Given the description of an element on the screen output the (x, y) to click on. 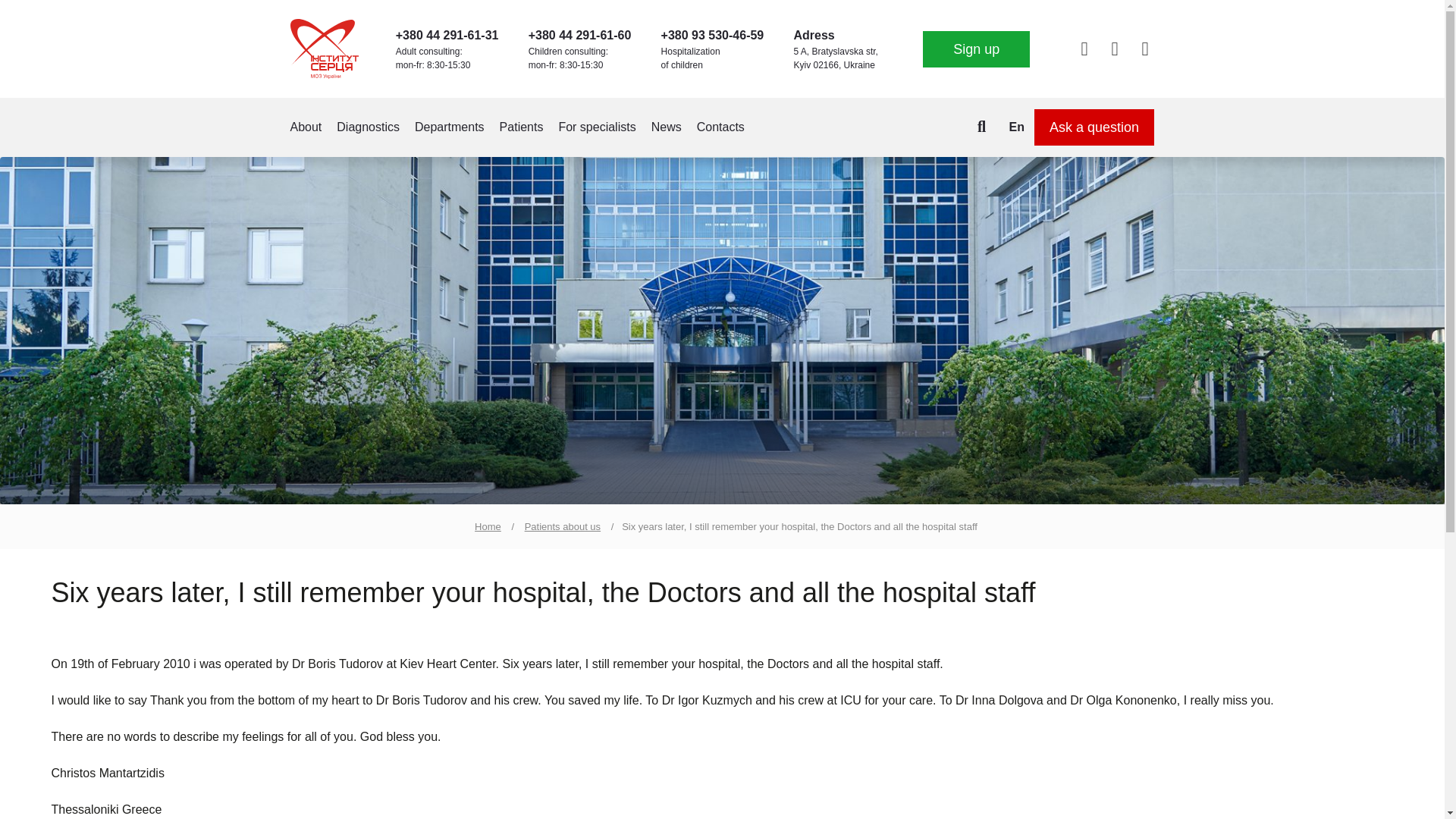
Patients (521, 127)
Departments (449, 127)
Diagnostics (367, 127)
Adress (813, 34)
Sign up (976, 49)
